Given the description of an element on the screen output the (x, y) to click on. 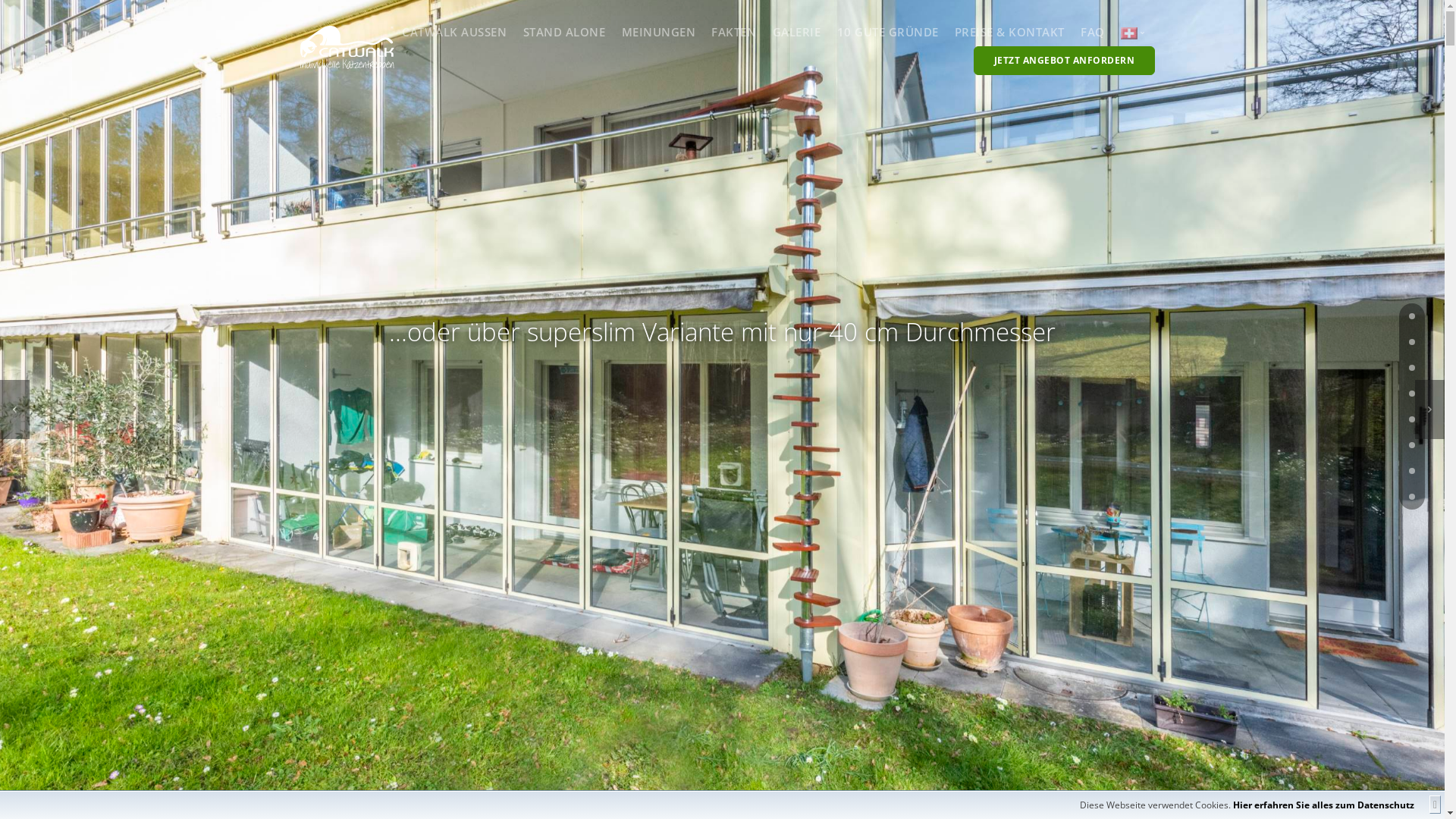
GALERIE Element type: text (796, 31)
MEINUNGEN Element type: text (658, 31)
STAND ALONE Element type: text (564, 31)
PREISE & KONTAKT Element type: text (1009, 31)
CATWALK Schweiz Element type: hover (1128, 33)
JETZT ANGEBOT ANFORDERN Element type: text (1063, 60)
FAQ Element type: text (1092, 31)
CATWALK AUSSEN Element type: text (453, 31)
Hier erfahren Sie alles zum Datenschutz Element type: text (1323, 804)
FAKTEN Element type: text (733, 31)
